Given the description of an element on the screen output the (x, y) to click on. 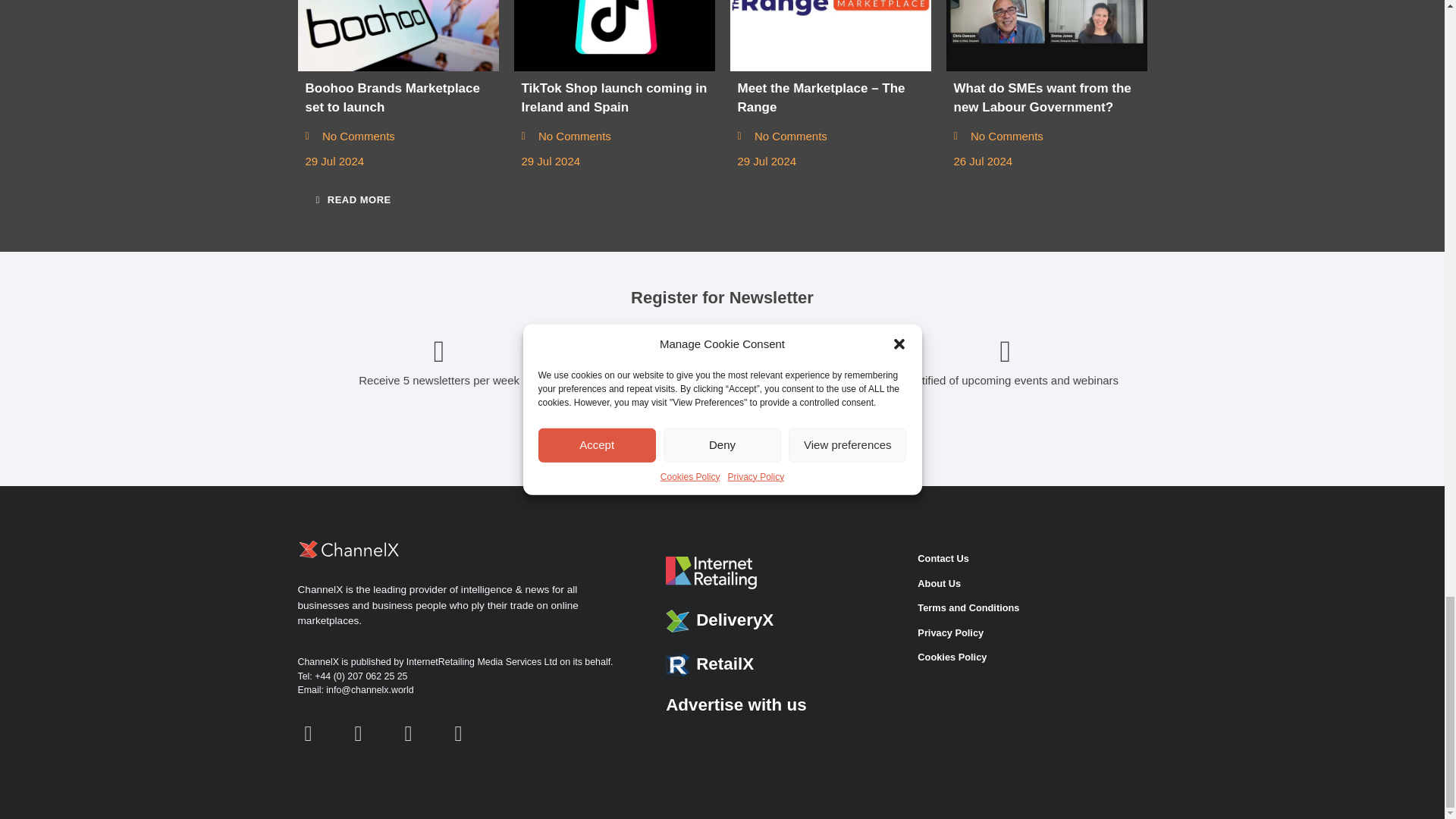
Learn how to get started with TikTok Shop (613, 35)
Boohoo Brands Marketplace set to launch (397, 35)
